Given the description of an element on the screen output the (x, y) to click on. 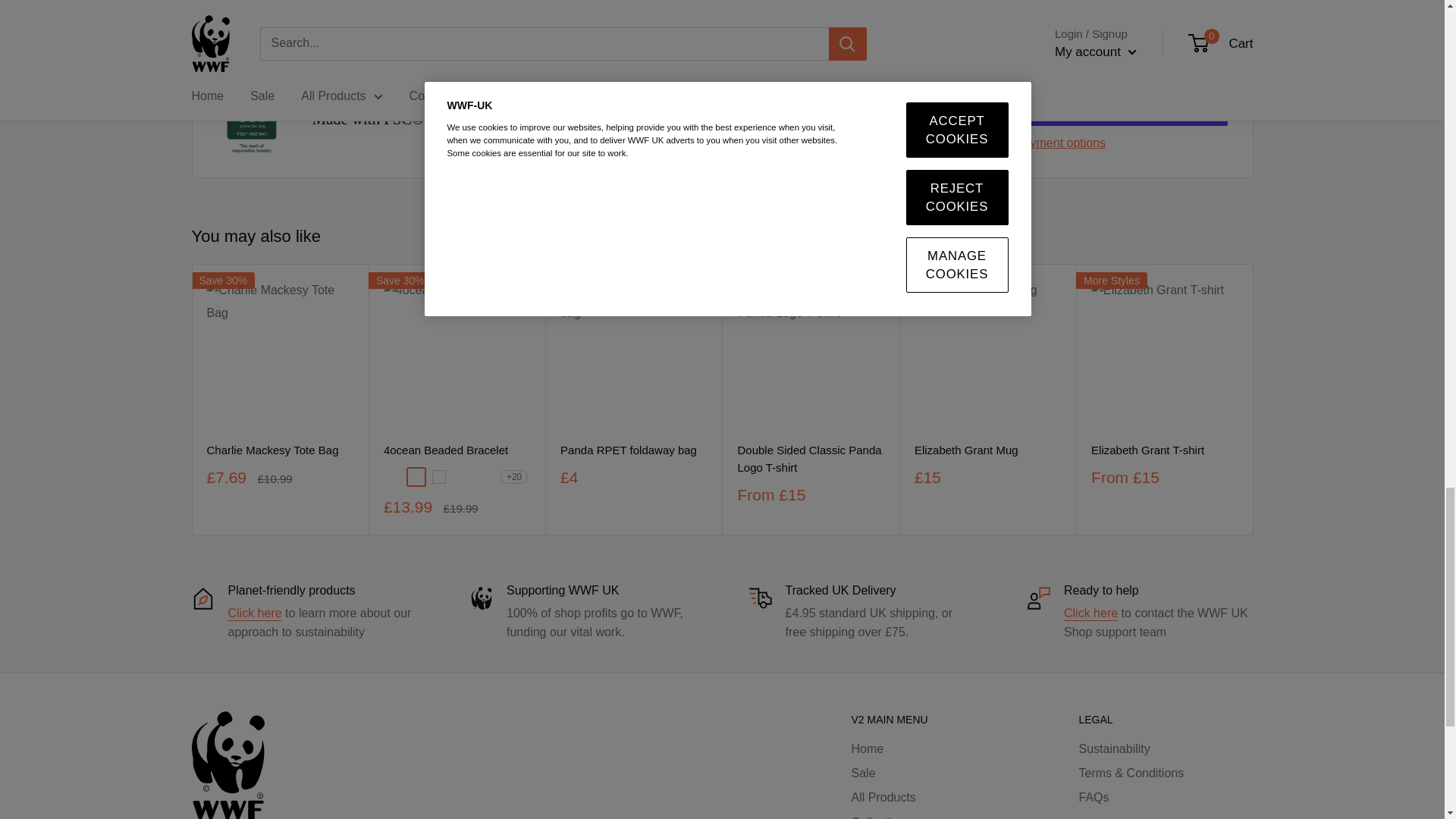
Blue (461, 477)
White (438, 477)
Coral (393, 477)
